Given the description of an element on the screen output the (x, y) to click on. 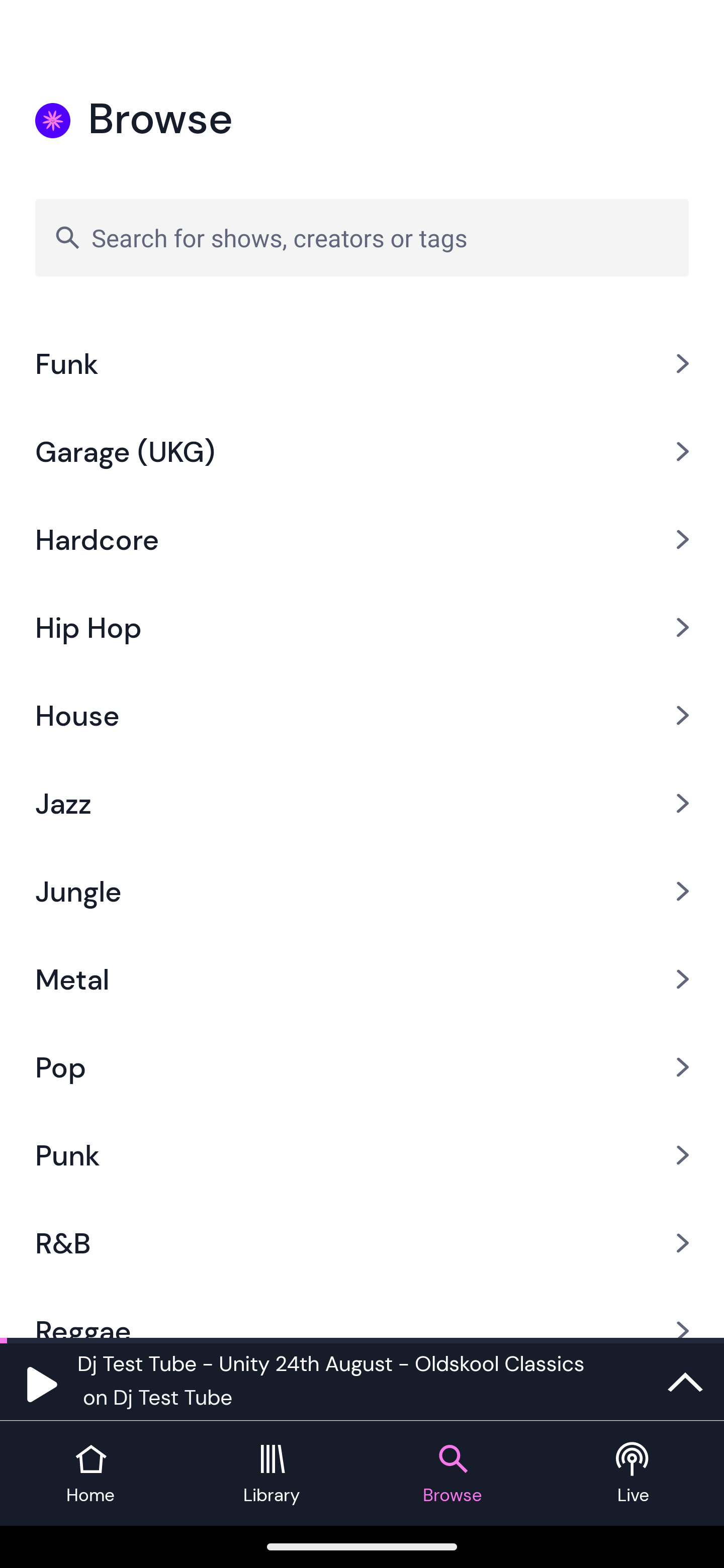
Search for shows, creators or tags (361, 237)
Funk (361, 363)
Garage (UKG) (361, 451)
Hardcore (361, 539)
Hip Hop (361, 627)
House (361, 714)
Jazz (361, 802)
Jungle (361, 890)
Metal (361, 978)
Pop (361, 1067)
Punk (361, 1155)
R&B (361, 1243)
Home tab Home (90, 1473)
Library tab Library (271, 1473)
Browse tab Browse (452, 1473)
Live tab Live (633, 1473)
